Given the description of an element on the screen output the (x, y) to click on. 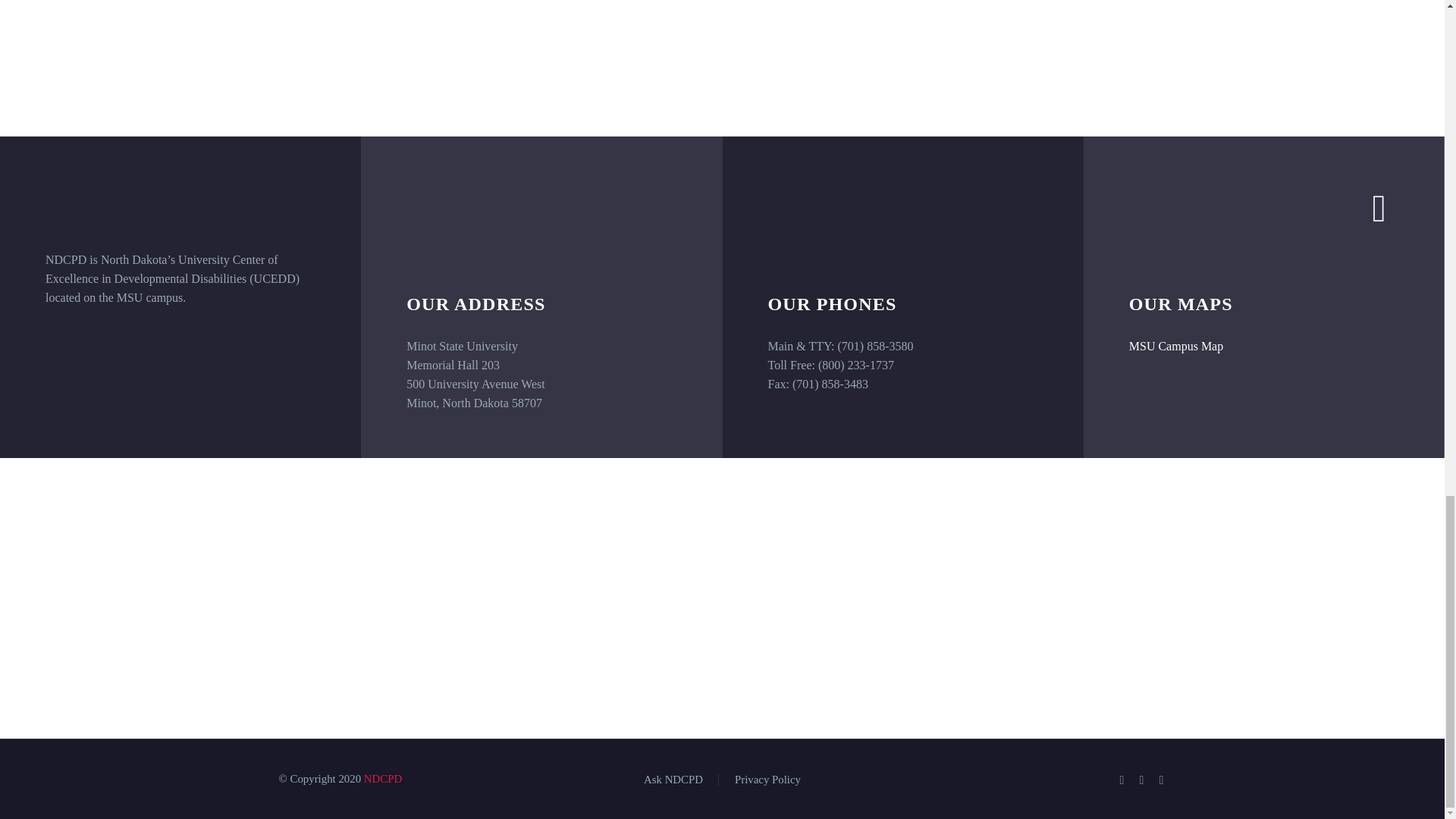
YouTube (1161, 779)
Twitter (1141, 779)
Facebook (1122, 779)
